Given the description of an element on the screen output the (x, y) to click on. 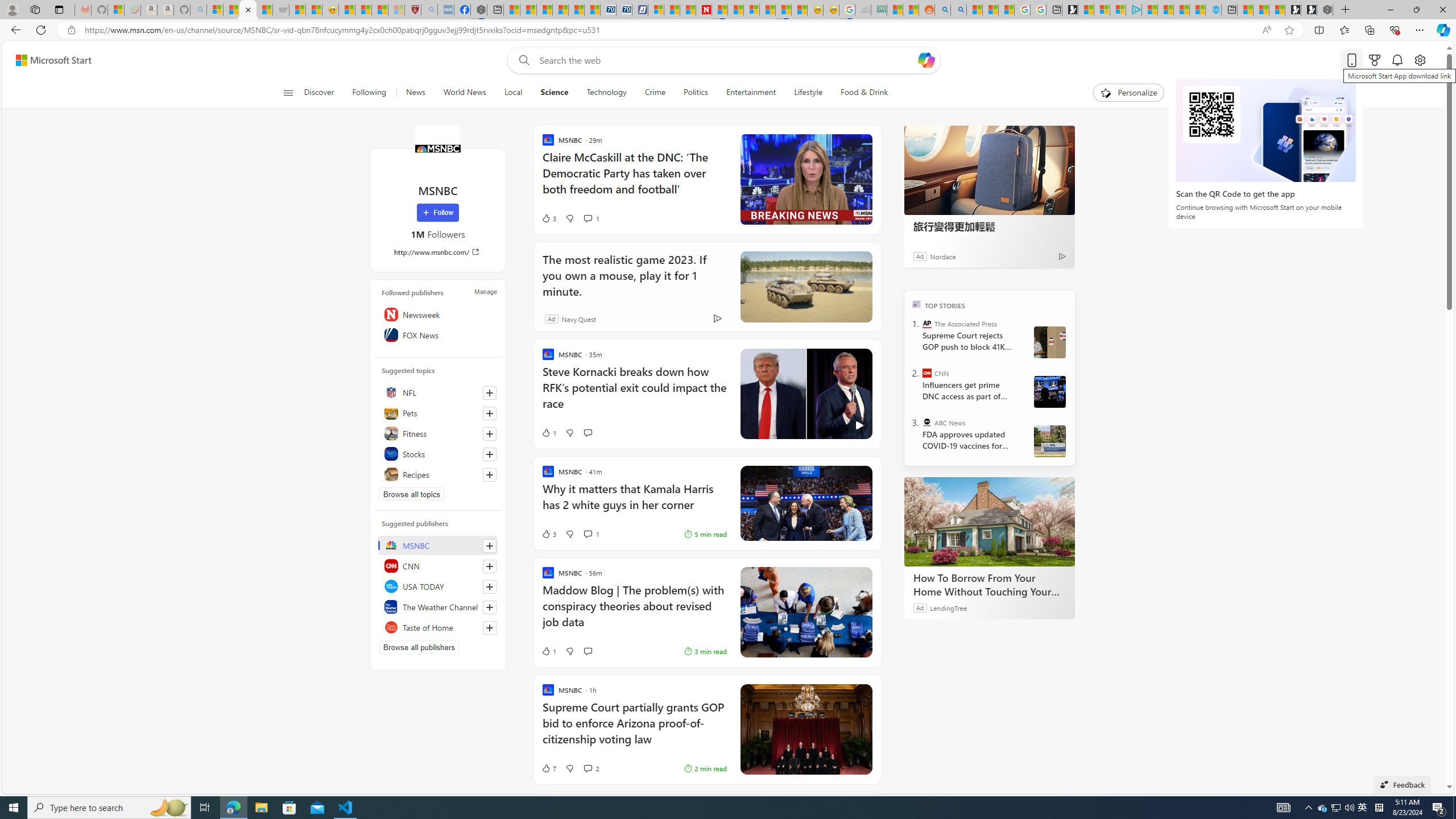
 ATS_2336.jpg (1049, 391)
